Given the description of an element on the screen output the (x, y) to click on. 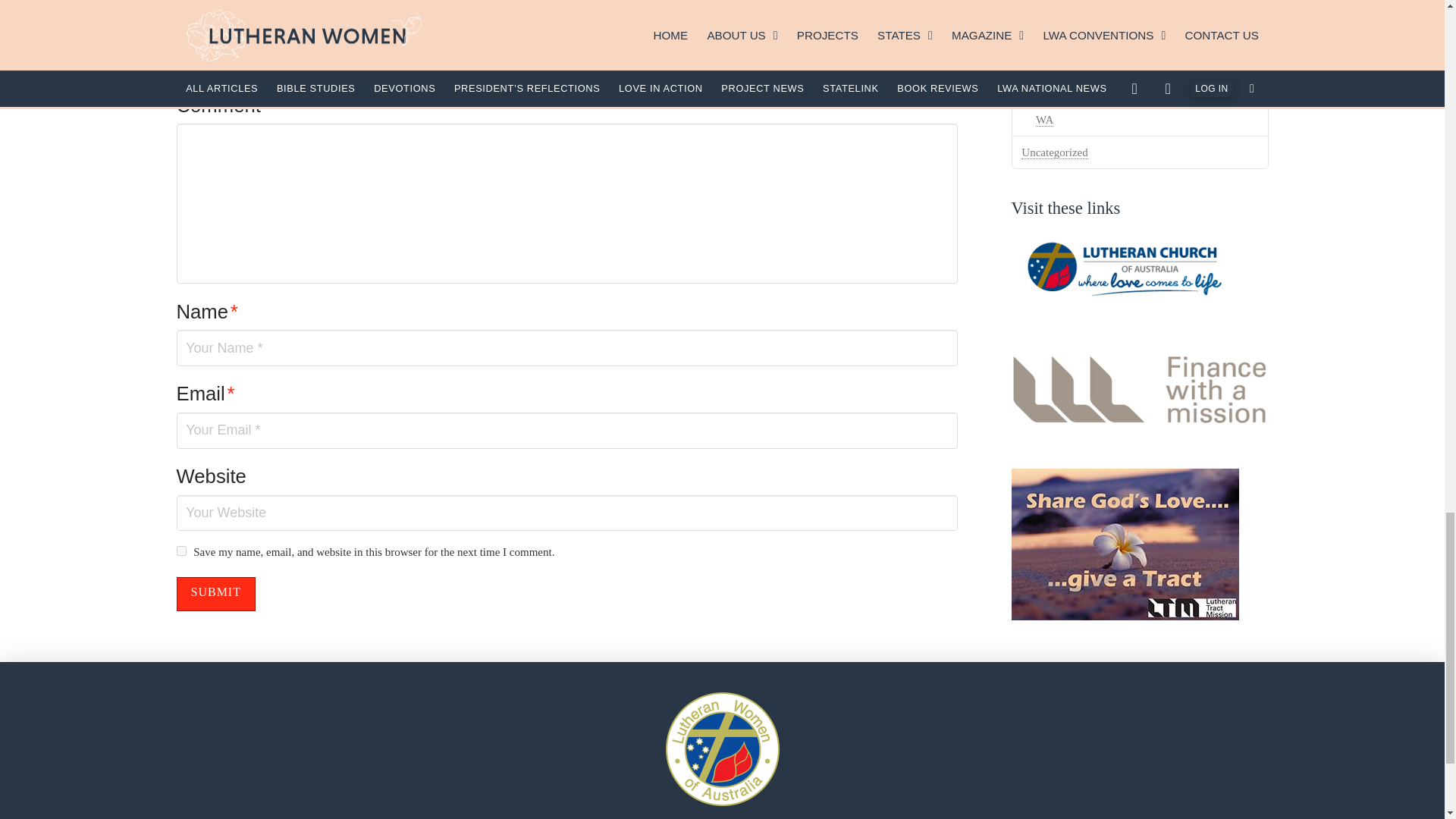
Submit (215, 593)
GRACE BOCK (443, 1)
AS I SEE IT (213, 1)
Submit (215, 593)
yes (181, 551)
